Given the description of an element on the screen output the (x, y) to click on. 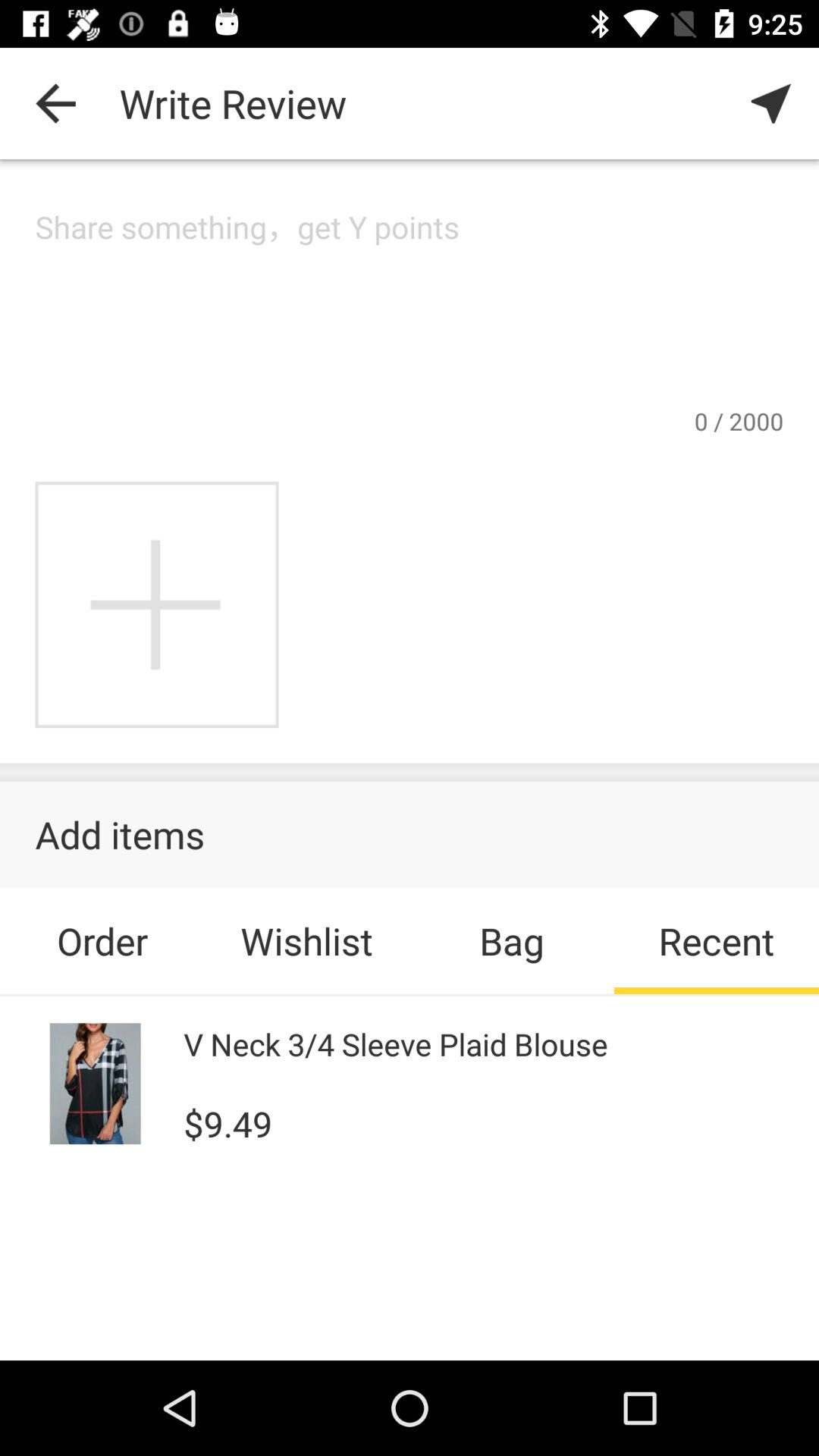
open app next to the write review app (55, 103)
